Given the description of an element on the screen output the (x, y) to click on. 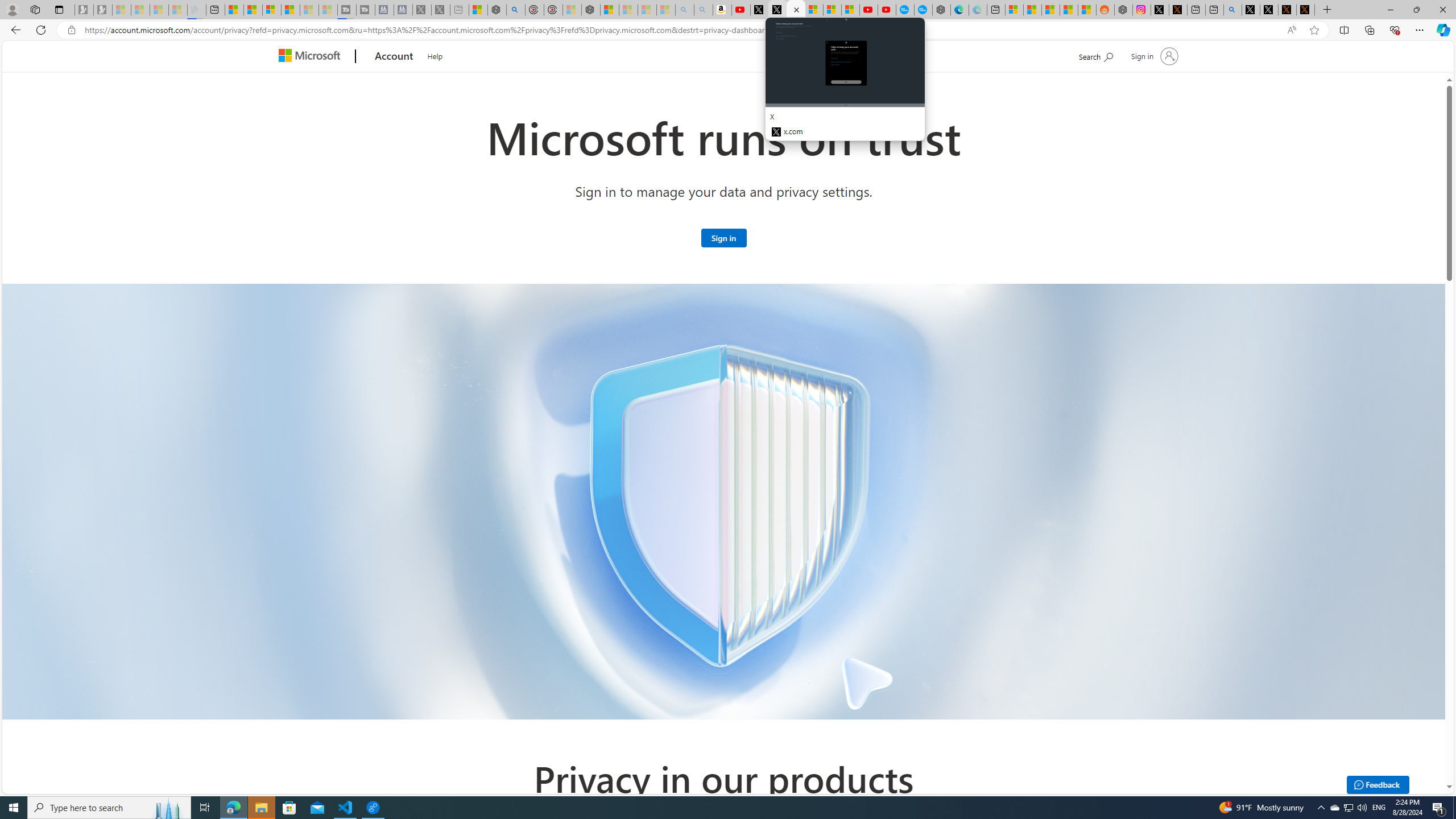
Shanghai, China Weather trends | Microsoft Weather (1086, 9)
Help (434, 54)
Newsletter Sign Up - Sleeping (102, 9)
Amazon Echo Dot PNG - Search Images - Sleeping (702, 9)
